Given the description of an element on the screen output the (x, y) to click on. 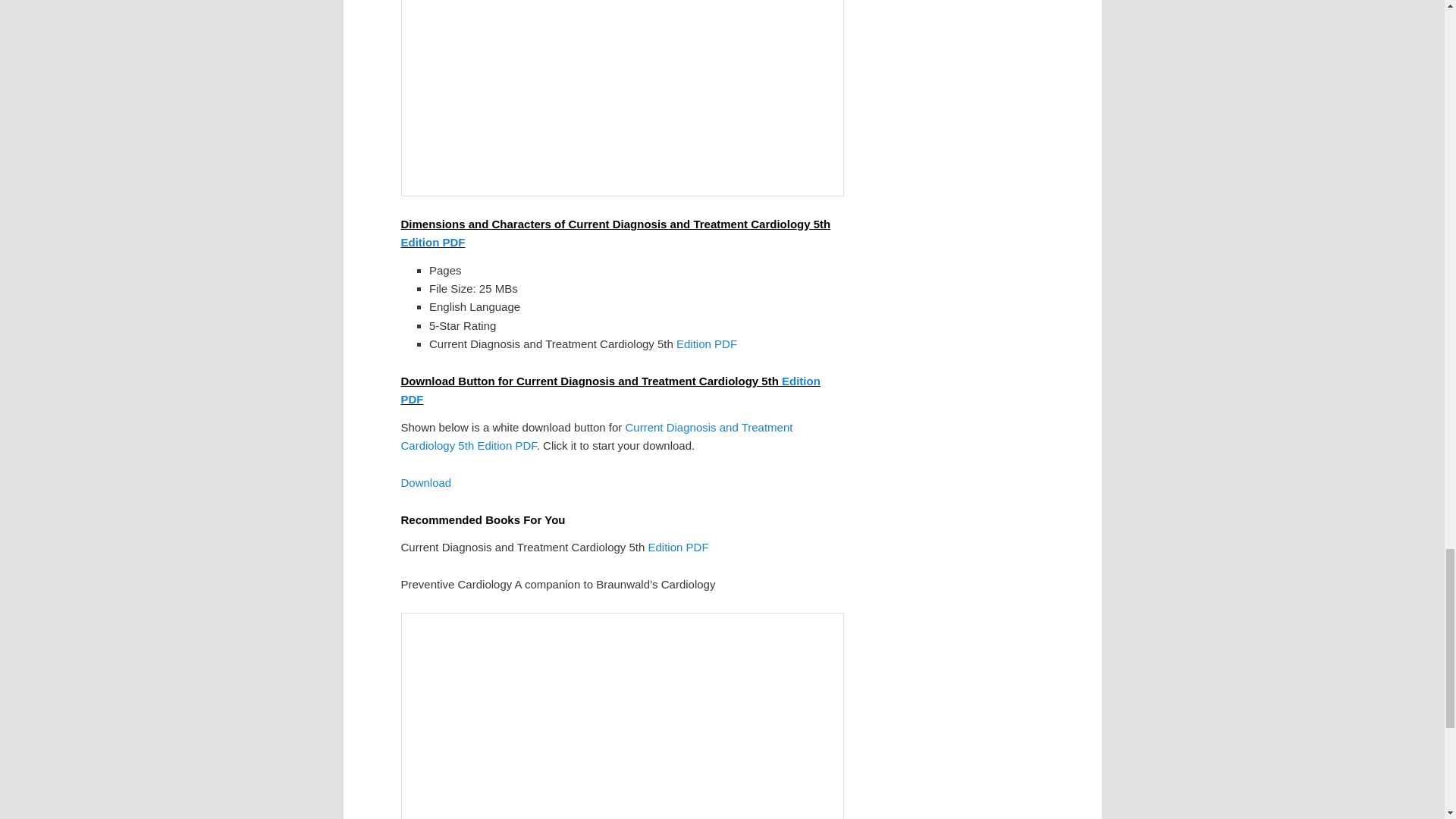
Current Diagnosis and Treatment Cardiology 5th (596, 436)
Edition PDF (432, 241)
Edition PDF (678, 546)
Edition PDF (506, 445)
Edition PDF (706, 343)
Download (425, 481)
Edition PDF (609, 389)
